Given the description of an element on the screen output the (x, y) to click on. 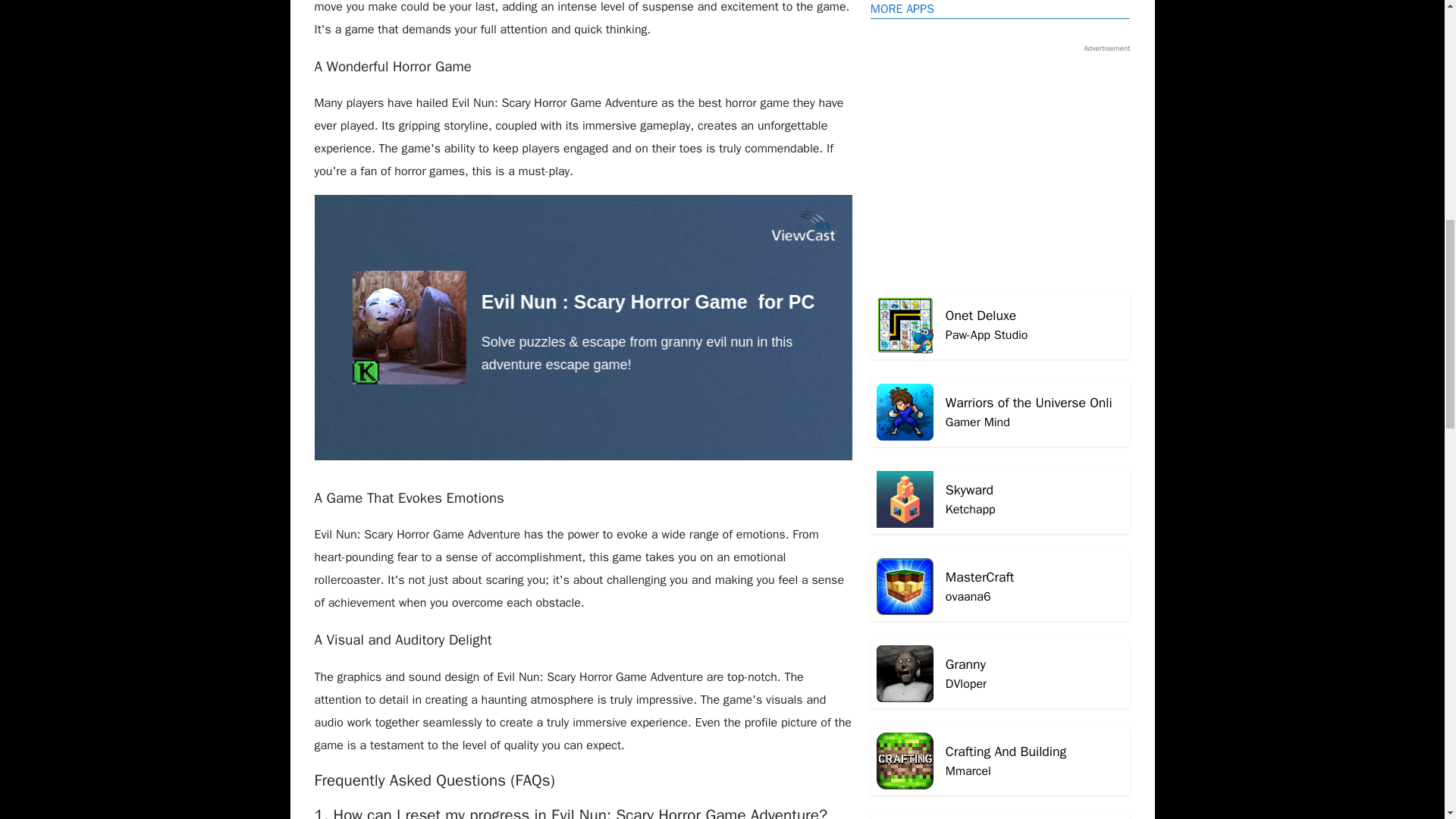
Crafting And Building for PC (1000, 250)
Granny for PC (1000, 75)
Payback 2 - The Battle Sandbox for PC (1000, 75)
1945 Classic Arcade for PC (1000, 11)
Evil Nun : Scary Horror Game Adventure for PC screenshot (1000, 512)
The Catapult 2 for PC (1000, 599)
My Boy! Free - GBA Emulator for PC (1000, 424)
